Given the description of an element on the screen output the (x, y) to click on. 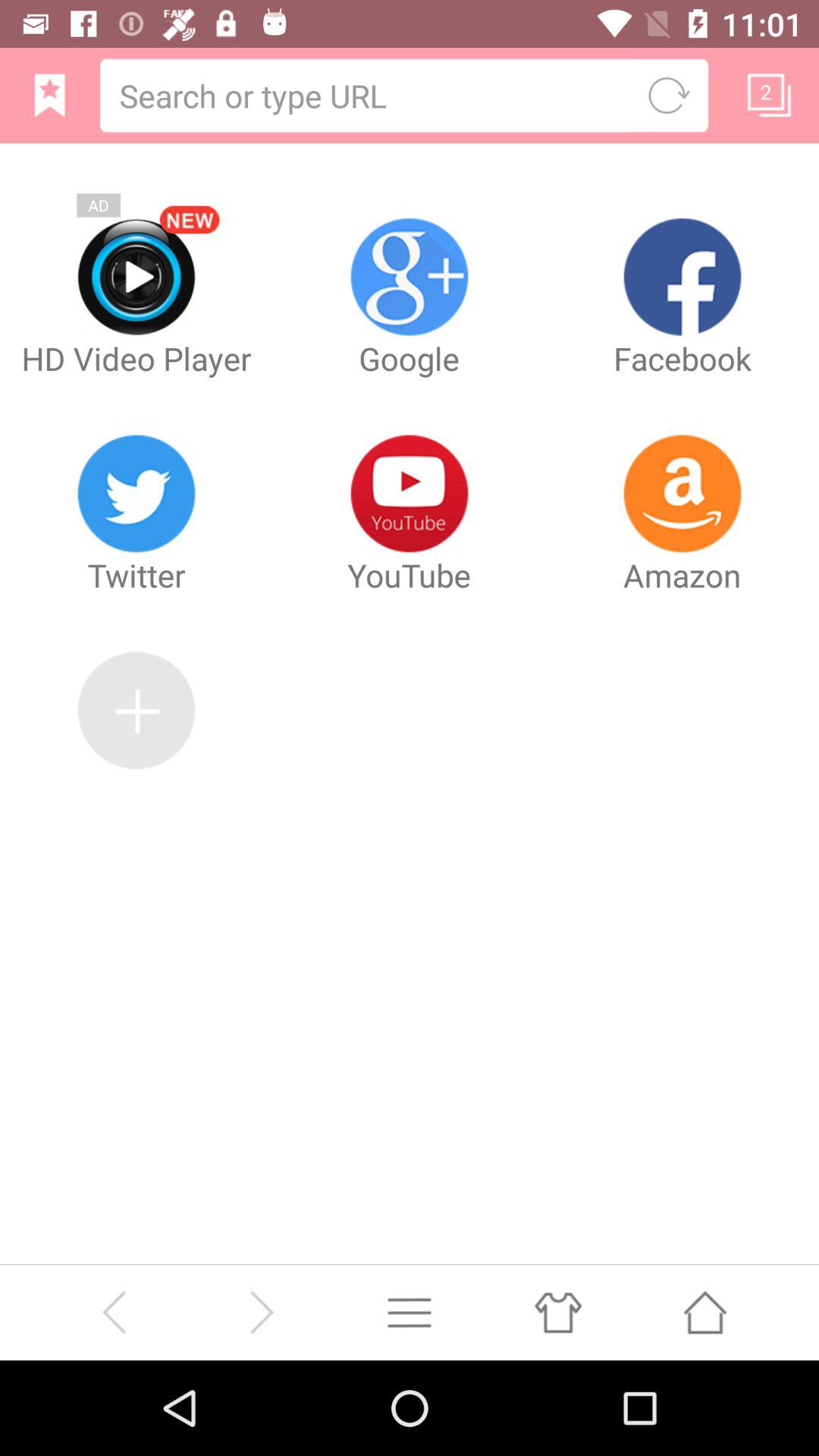
go to back (113, 1312)
